Given the description of an element on the screen output the (x, y) to click on. 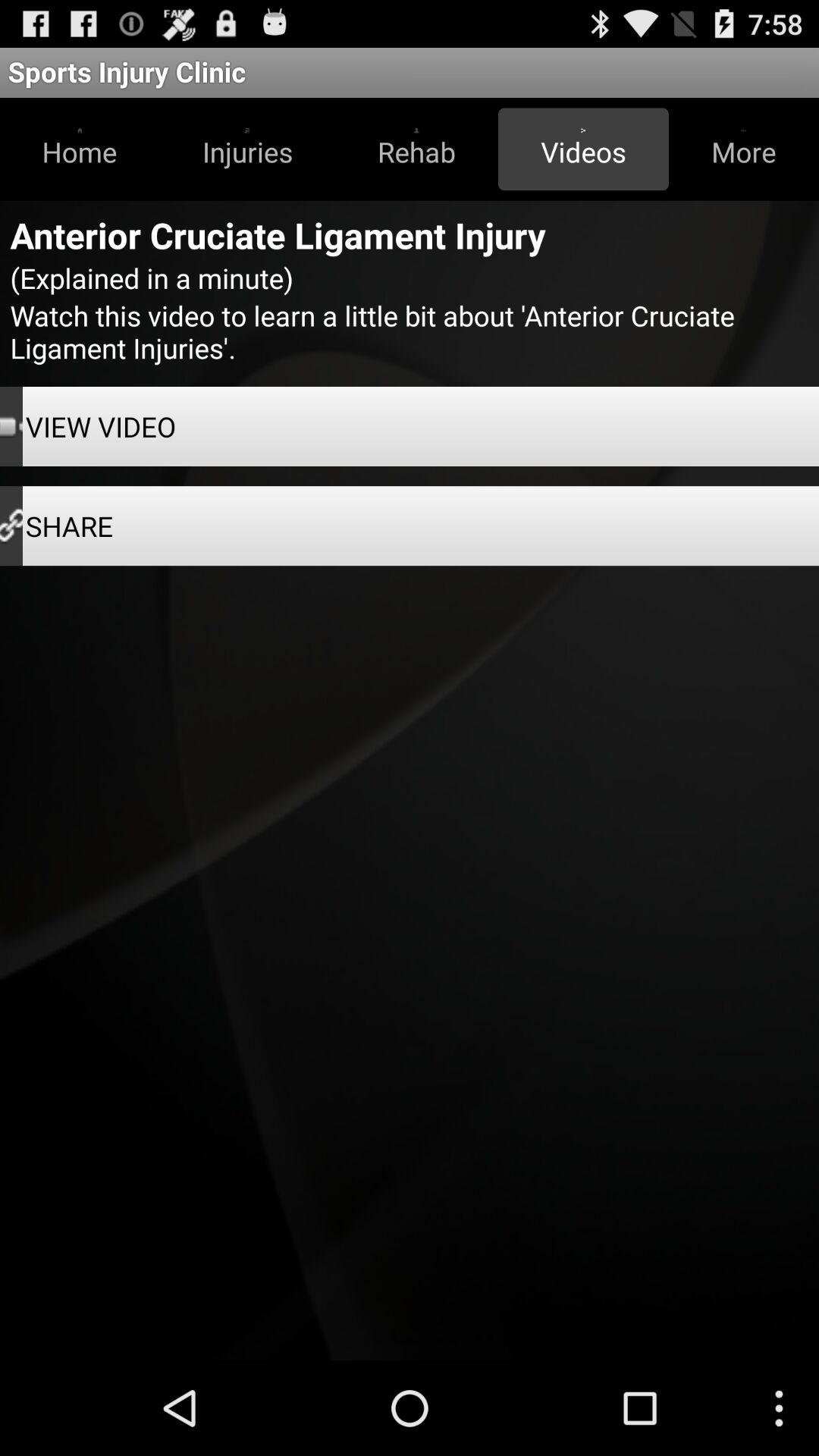
flip to the home (79, 149)
